Given the description of an element on the screen output the (x, y) to click on. 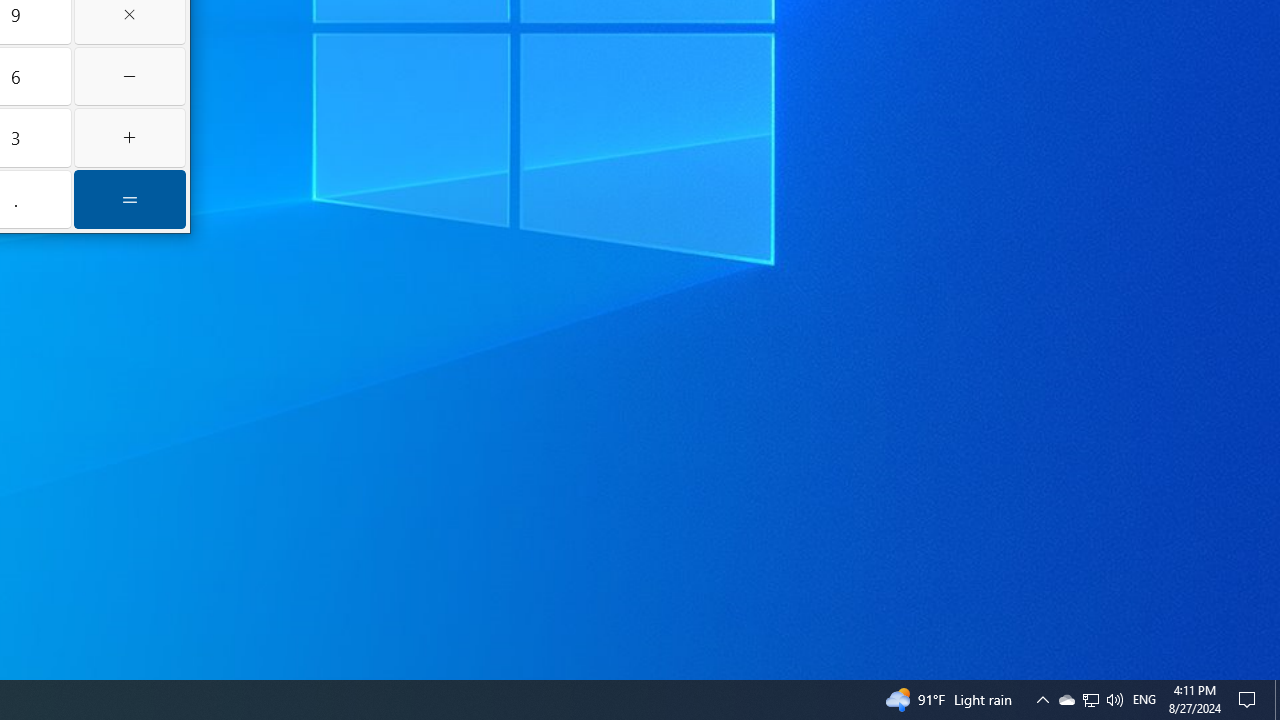
Q2790: 100% (1114, 699)
Show desktop (1277, 699)
Equals (129, 198)
Plus (129, 137)
Minus (129, 75)
User Promoted Notification Area (1091, 699)
Tray Input Indicator - English (United States) (1090, 699)
Action Center, No new notifications (1144, 699)
Notification Chevron (1250, 699)
